Given the description of an element on the screen output the (x, y) to click on. 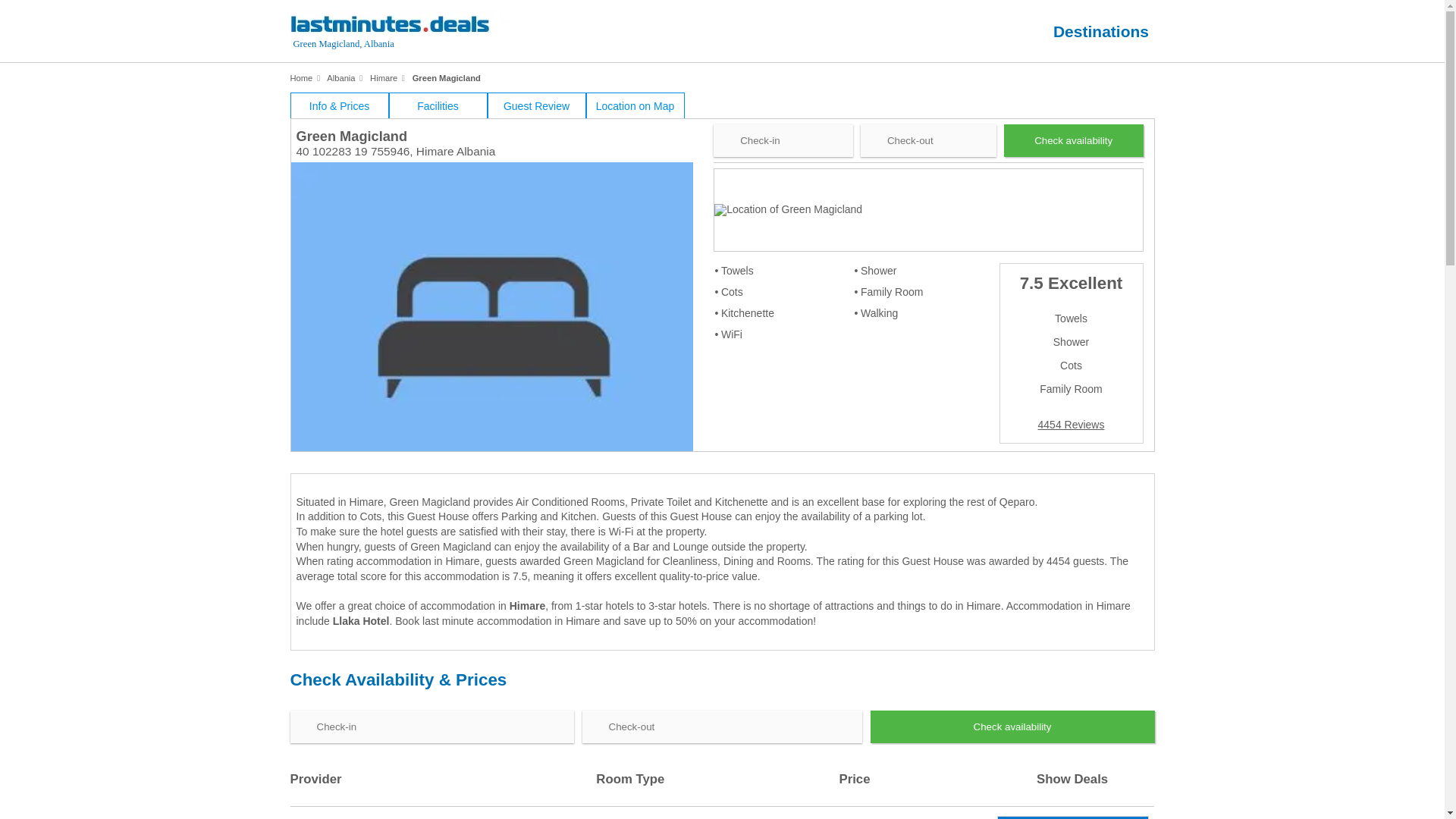
Albania (340, 77)
Himare hotels (383, 77)
Green Magicland (446, 77)
Home (301, 77)
Guest Review (535, 105)
Last Minute Hotel Deals (301, 77)
Himare (383, 77)
Check availability (1012, 726)
Albania hotels (340, 77)
Show Deal (1072, 817)
Llaka Hotel in Himare (361, 620)
Llaka Hotel (361, 620)
Check availability (1073, 140)
Himare (526, 605)
Last Minute Hotel Deals (416, 33)
